Given the description of an element on the screen output the (x, y) to click on. 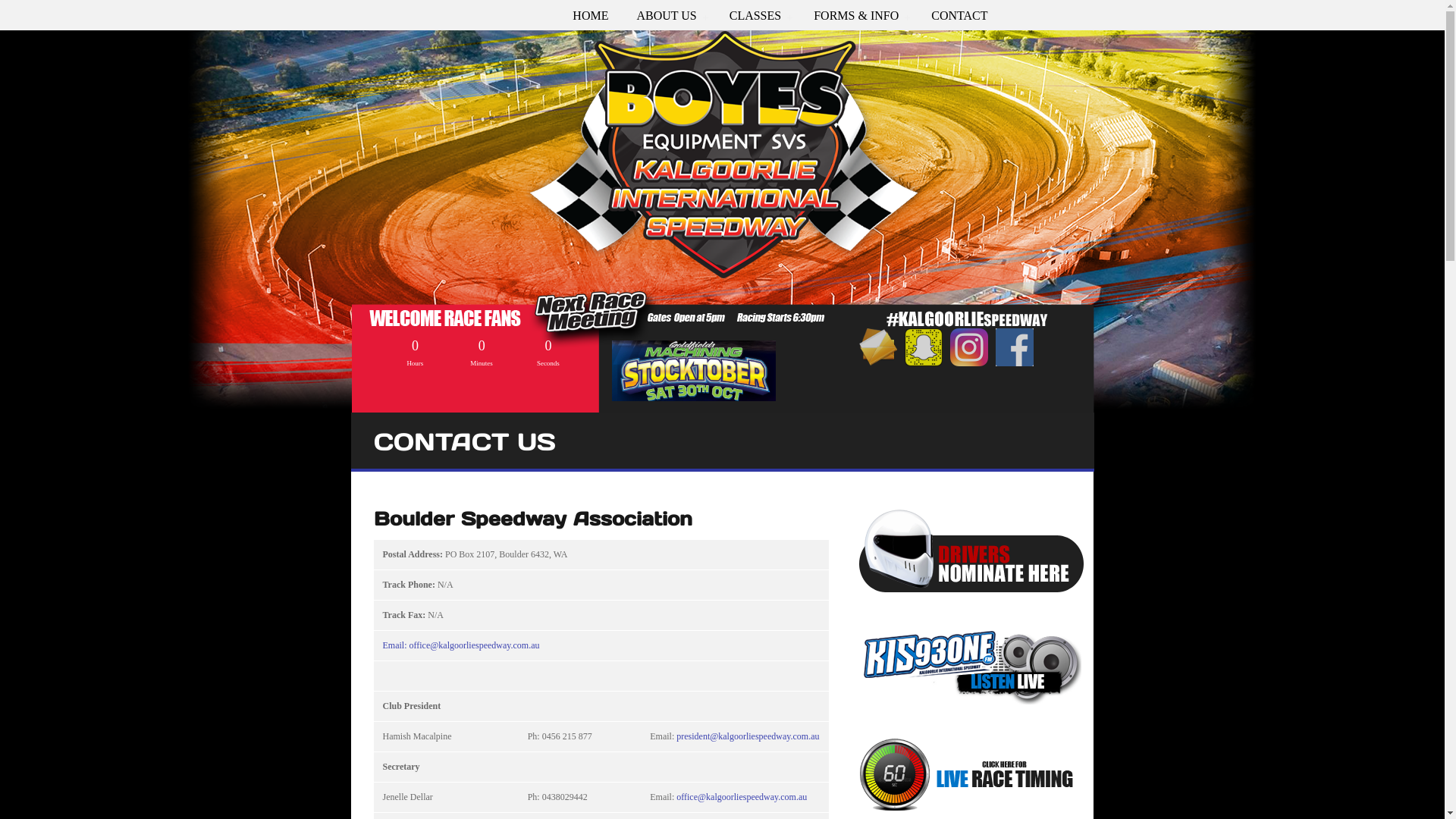
Listen Live Element type: hover (969, 665)
Connect with  E-mail Element type: hover (877, 347)
Click for LIVE TIMING Element type: hover (969, 775)
office@kalgoorliespeedway.com.au Element type: text (741, 796)
Kalgoorlie International Speedway Element type: text (722, 172)
Connect with  Facebook Element type: hover (1013, 347)
Click to NOMINATE Element type: hover (970, 550)
HOME Element type: text (590, 15)
Postal Element type: text (393, 554)
Connect with  SnapChat Element type: hover (922, 347)
CONTACT Element type: text (959, 15)
Email: office@kalgoorliespeedway.com.au Element type: text (460, 645)
president@kalgoorliespeedway.com.au Element type: text (747, 736)
Connect with  Instagram Element type: hover (968, 347)
